Given the description of an element on the screen output the (x, y) to click on. 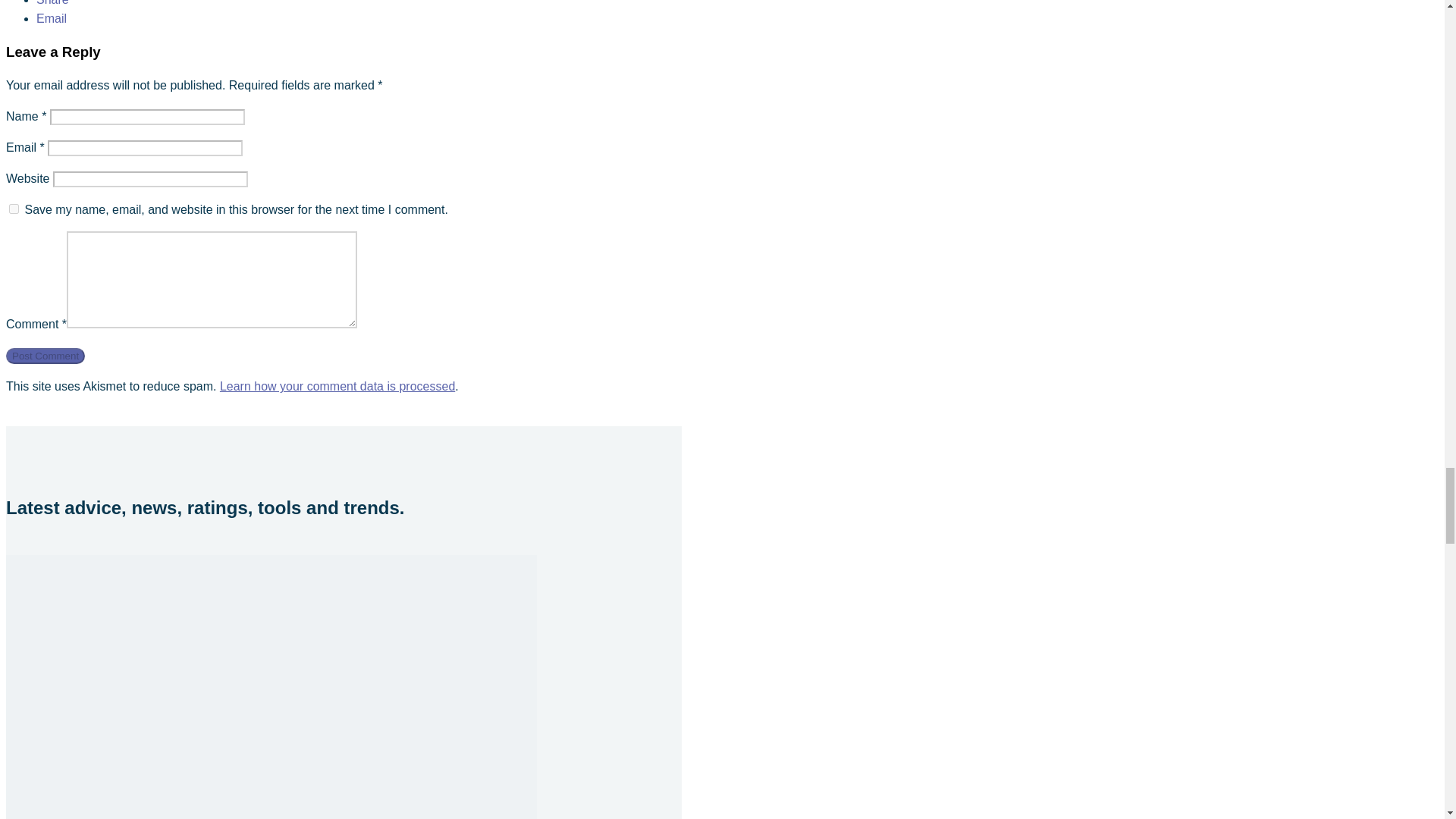
Post Comment (44, 355)
yes (13, 208)
